Given the description of an element on the screen output the (x, y) to click on. 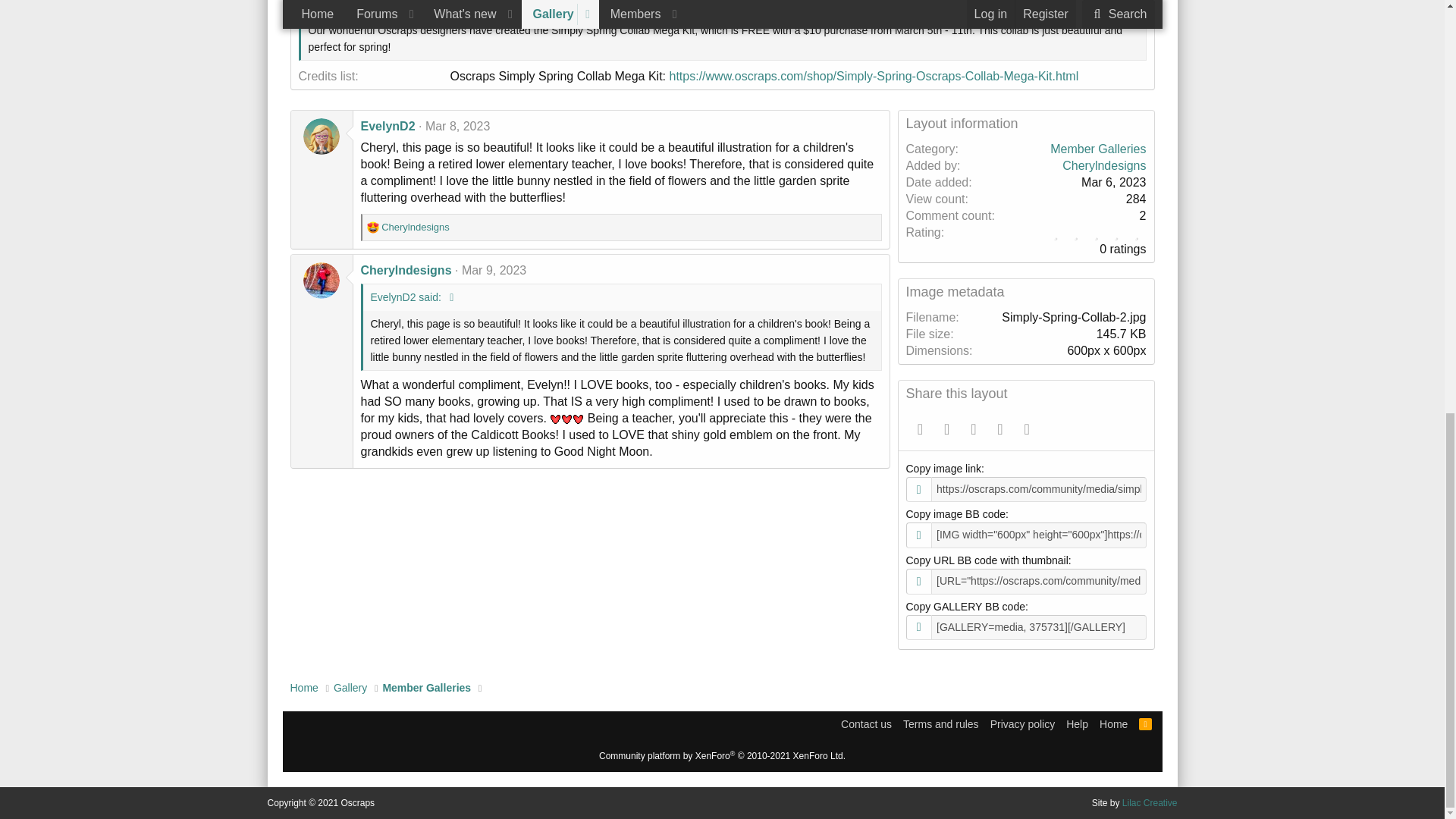
Mar 6, 2023 at 12:10 PM (466, 1)
Mar 9, 2023 at 4:33 PM (493, 269)
heartpump-red    :heartpumpred: (555, 419)
Mar 6, 2023 at 12:10 PM (1113, 182)
Love (372, 227)
heartpump-red    :heartpumpred: (577, 419)
heartpump-red    :heartpumpred: (566, 419)
RSS (1144, 724)
Mar 8, 2023 at 11:15 PM (457, 125)
